Given the description of an element on the screen output the (x, y) to click on. 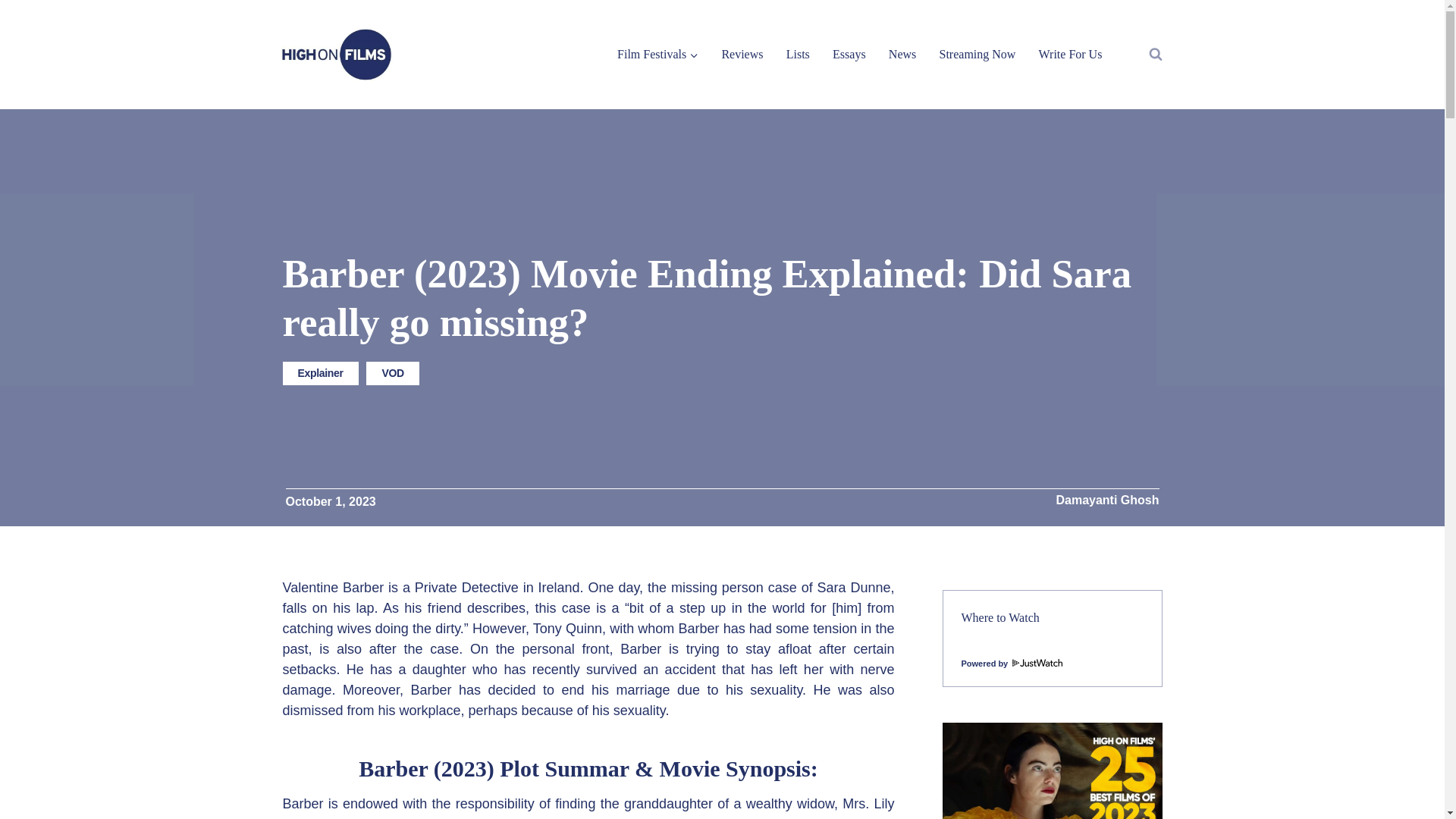
Essays (849, 53)
Explainer (320, 372)
Write For Us (1069, 53)
Film Festivals (657, 53)
Lists (797, 53)
Damayanti Ghosh (1106, 499)
News (902, 53)
Reviews (742, 53)
VOD (392, 372)
Streaming Now (976, 53)
